Given the description of an element on the screen output the (x, y) to click on. 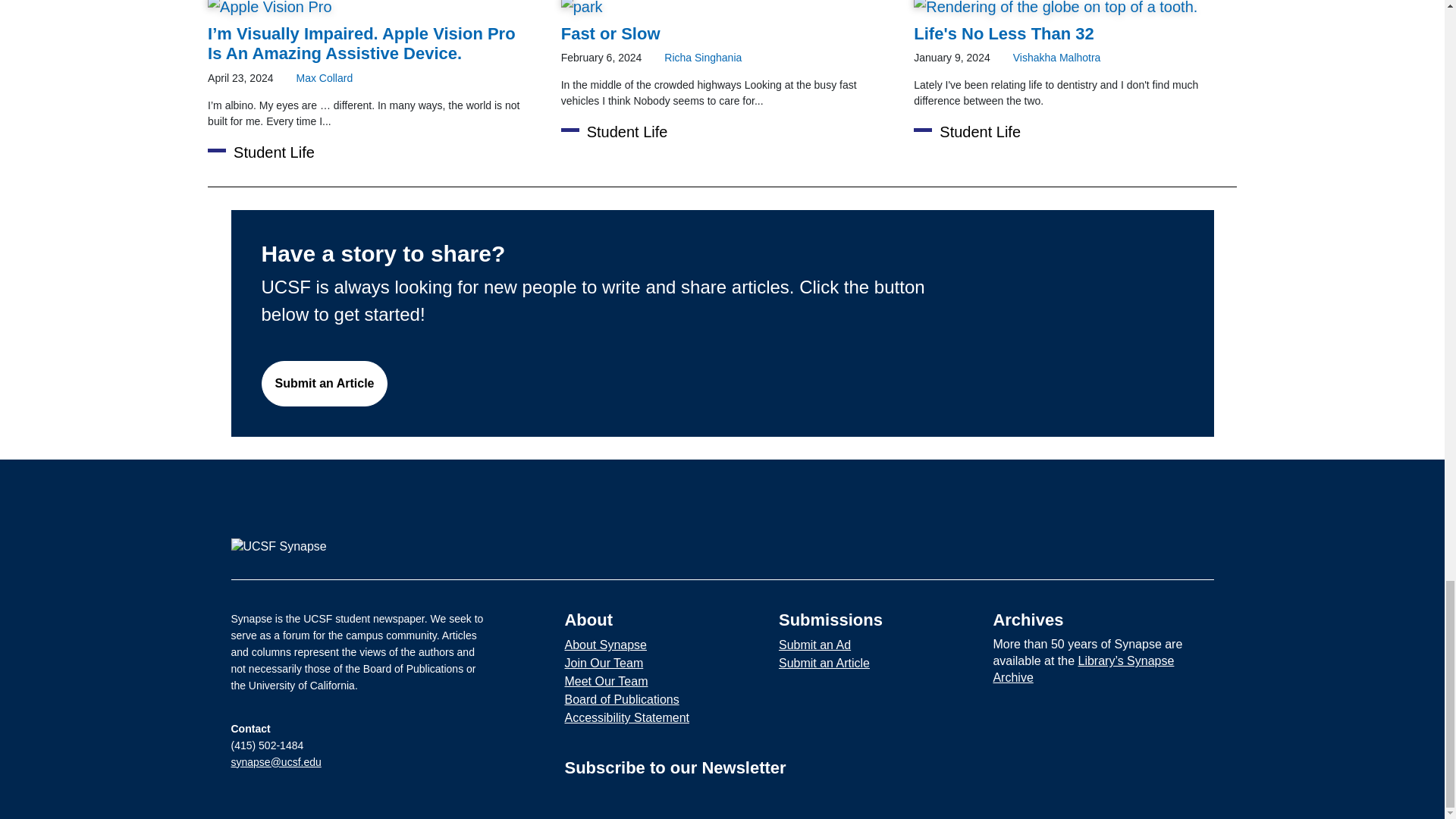
RSS (1197, 548)
